Given the description of an element on the screen output the (x, y) to click on. 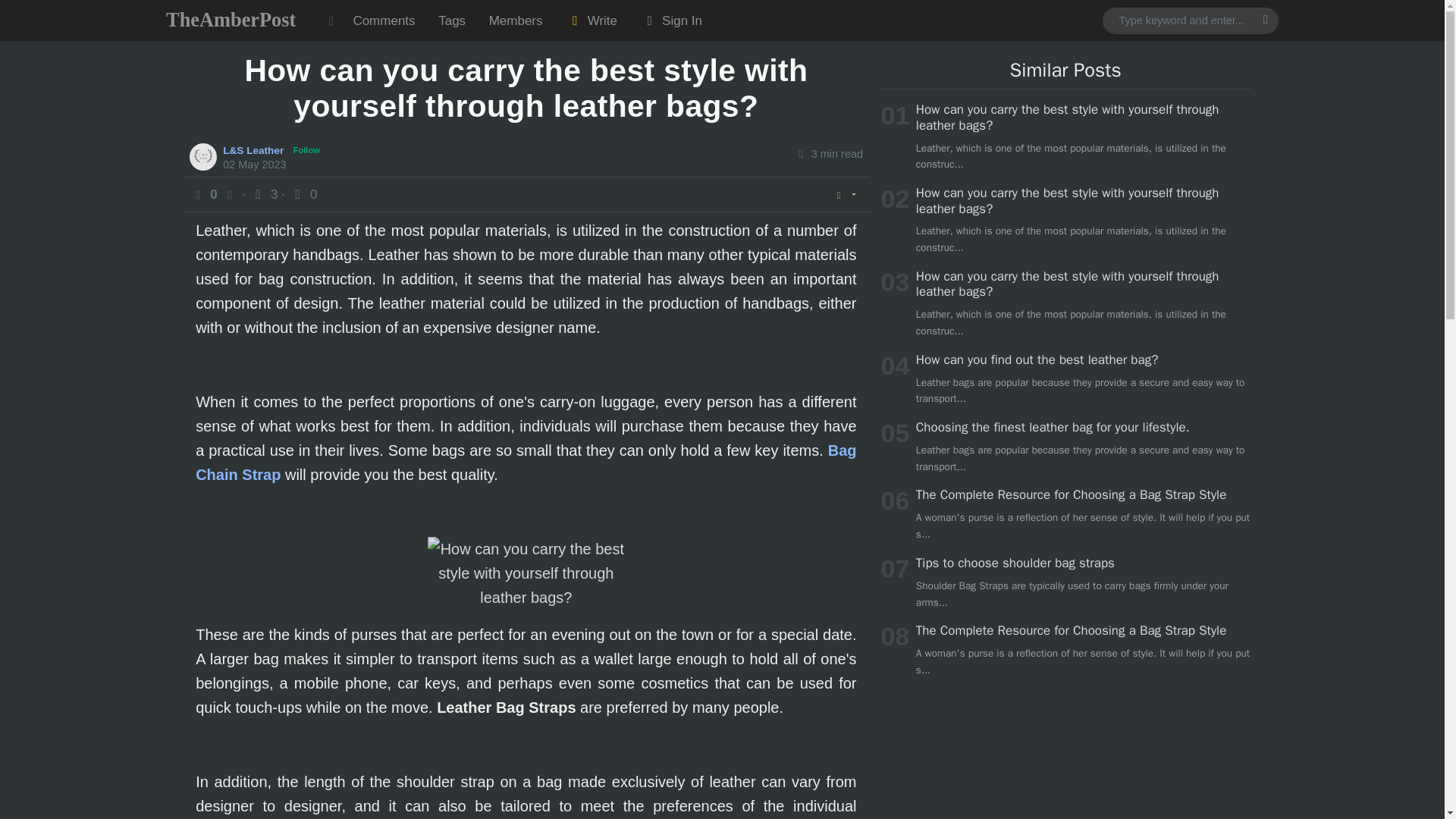
Choosing the finest leather bag for your lifestyle. (1052, 426)
Tags (451, 20)
Toggle dark mode (330, 20)
Views (264, 194)
TheAmberPost (230, 20)
Sign In (670, 20)
How can you find out the best leather bag? (1036, 359)
The Complete Resource for Choosing a Bag Strap Style (1070, 494)
Comments (383, 20)
Bag Chain Strap (525, 462)
